Given the description of an element on the screen output the (x, y) to click on. 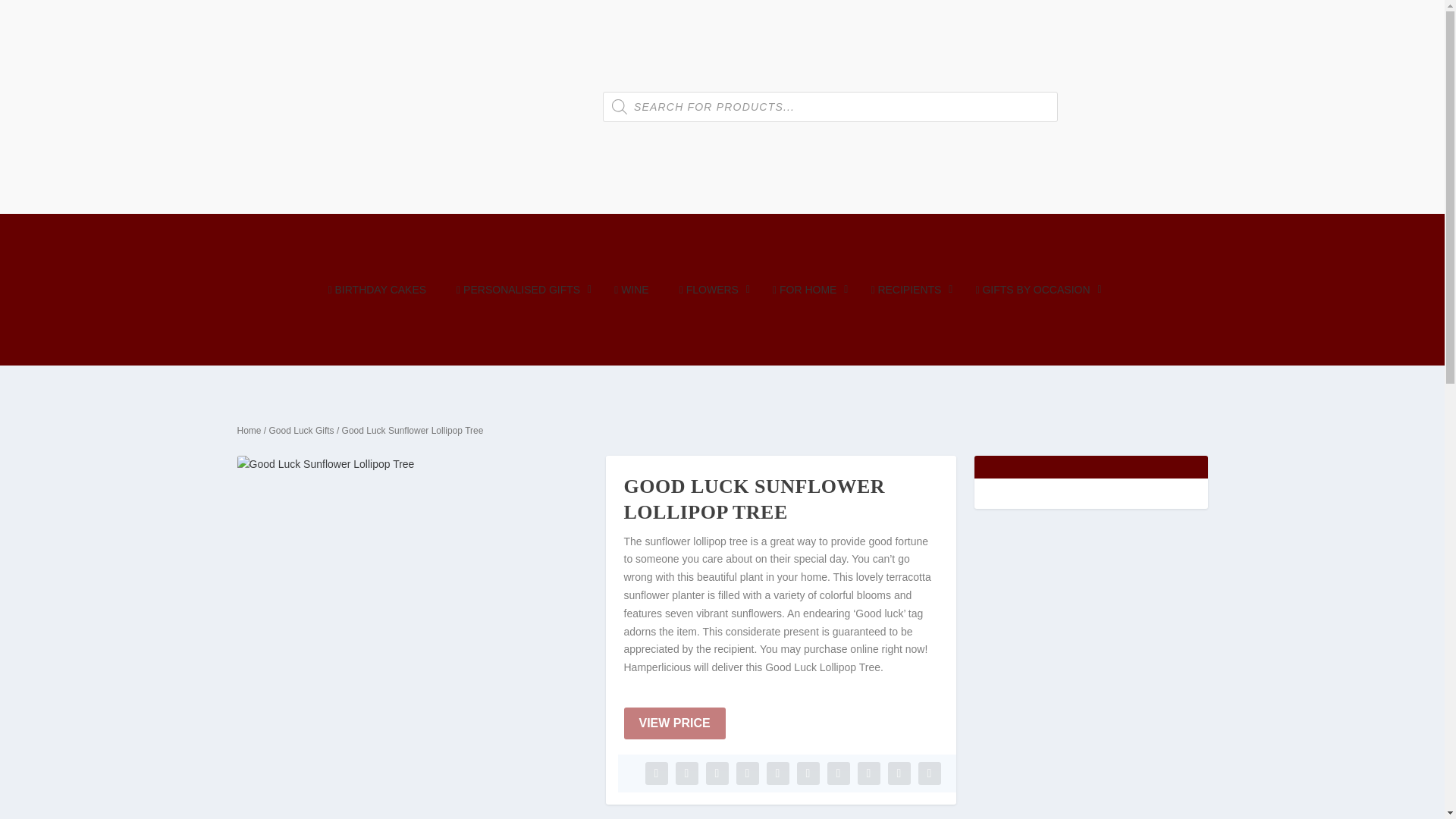
Share "Good Luck Sunflower Lollipop Tree" via Print (928, 773)
Share "Good Luck Sunflower Lollipop Tree" via Tumblr (746, 773)
Share "Good Luck Sunflower Lollipop Tree" via LinkedIn (807, 773)
Share "Good Luck Sunflower Lollipop Tree" via Pinterest (777, 773)
Share "Good Luck Sunflower Lollipop Tree" via Email (898, 773)
Share "Good Luck Sunflower Lollipop Tree" via Facebook (655, 773)
Share "Good Luck Sunflower Lollipop Tree" via Stumbleupon (868, 773)
Share "Good Luck Sunflower Lollipop Tree" via Buffer (837, 773)
Good Luck Sunflower Lollipop Tree 1 (410, 630)
Share "Good Luck Sunflower Lollipop Tree" via Twitter (686, 773)
